Given the description of an element on the screen output the (x, y) to click on. 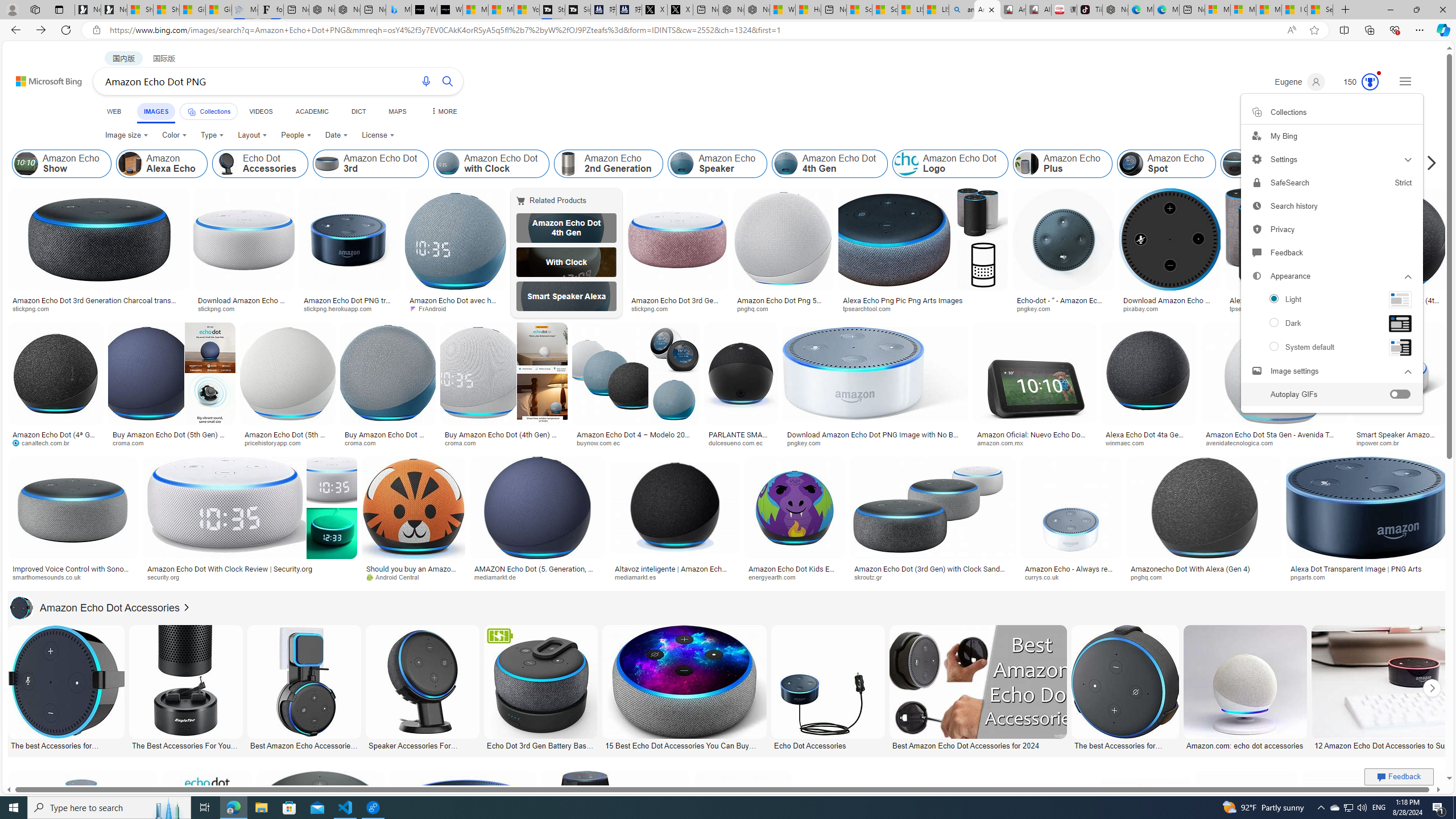
Microsoft Rewards 147 (1356, 81)
tpsearchtool.com (1283, 308)
mediamarkt.de (537, 576)
mediamarkt.de (499, 576)
Amazon Echo Speaker (681, 163)
Best Amazon Echo Dot Accessories for 2024 (976, 744)
currys.co.uk (1046, 576)
Amazonecho Dot With Alexa (Gen 4) (1203, 568)
